Given the description of an element on the screen output the (x, y) to click on. 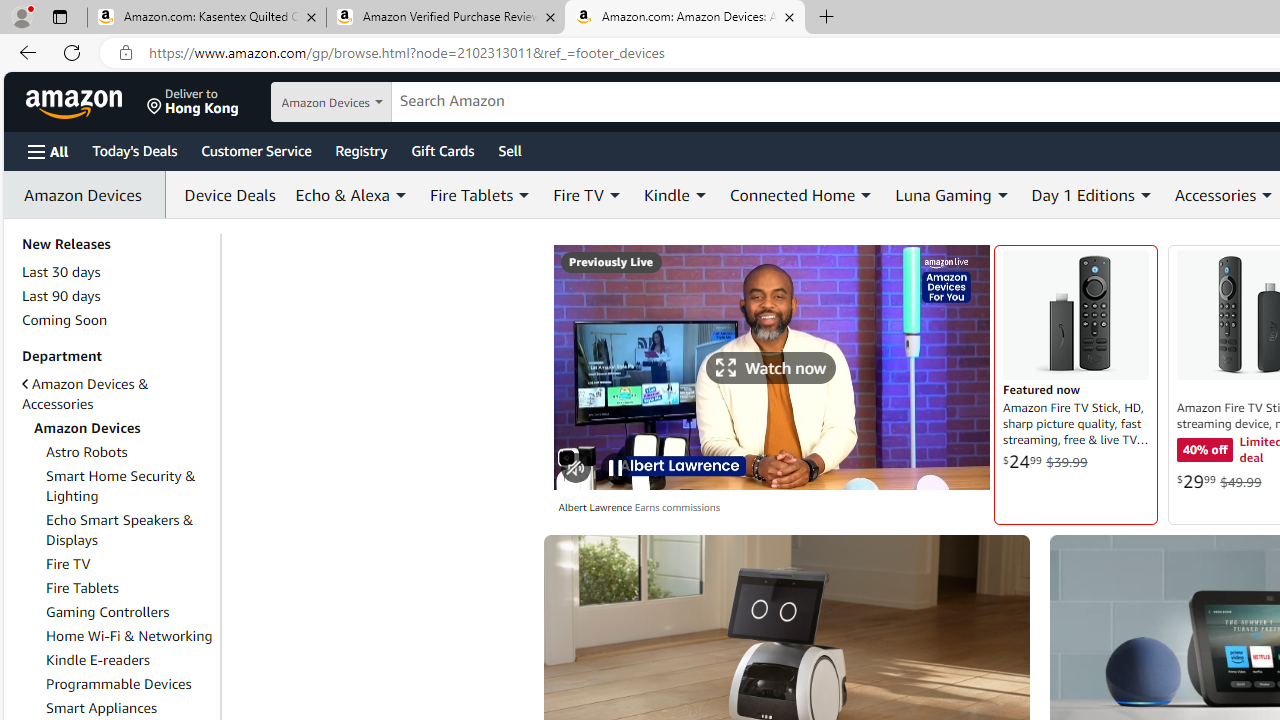
Registry (360, 150)
Expand Echo & Alexa (400, 195)
Pause (615, 467)
Today's Deals (134, 150)
Customer Service (256, 150)
Fire Tablets (82, 587)
Echo & Alexa (342, 194)
Coming Soon (117, 319)
Fire TV (68, 564)
Day 1 Editions (1082, 194)
Earns commissions (676, 507)
Expand Luna Gaming (1002, 195)
Last 90 days (117, 295)
